Given the description of an element on the screen output the (x, y) to click on. 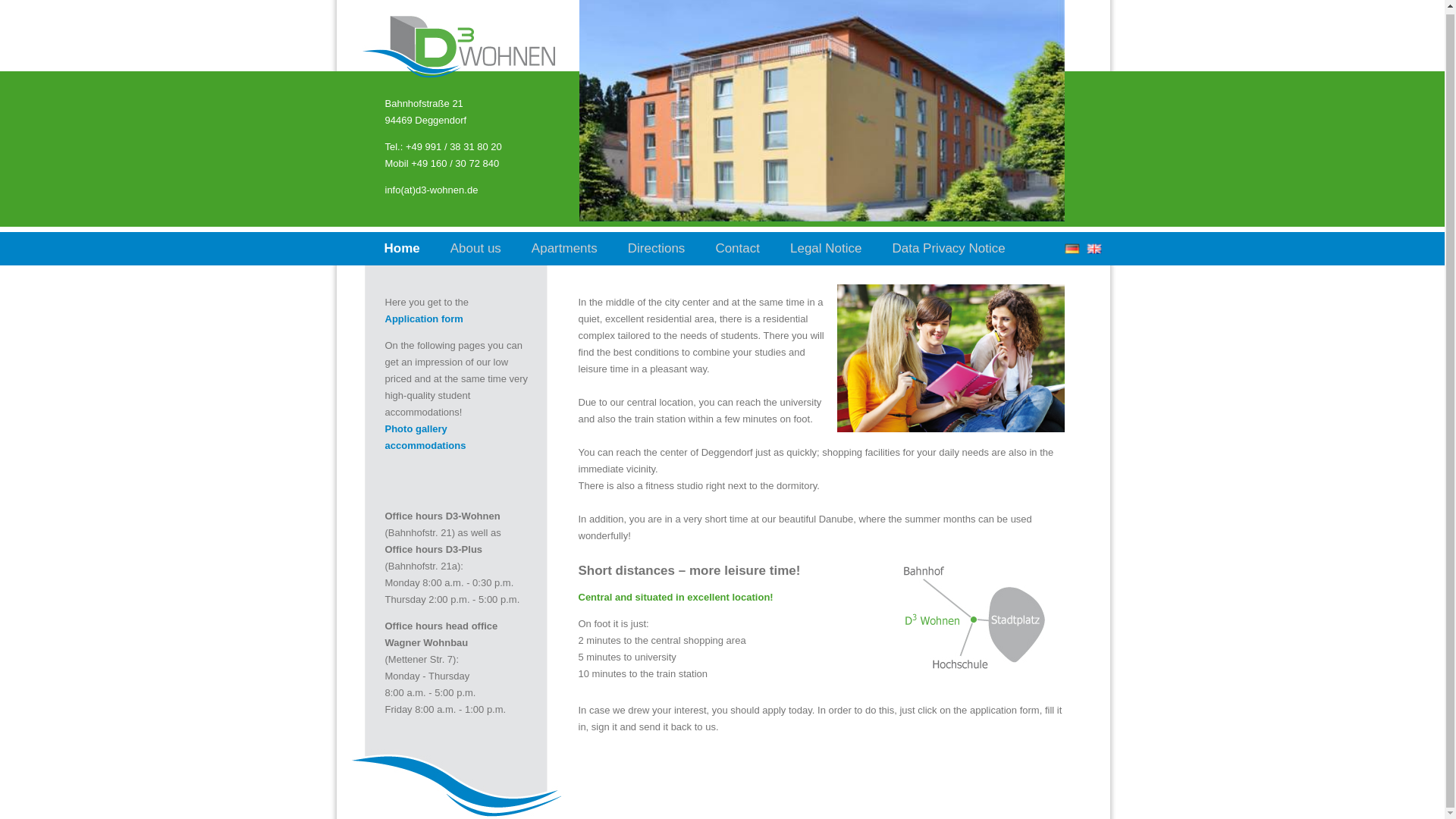
About us (474, 248)
Opens internal link in current window (425, 437)
Application form (424, 318)
Opens internal link in current window (424, 318)
Photo gallery accommodations (425, 437)
Apartments (563, 248)
Contact (737, 248)
German (1071, 250)
Directions (656, 248)
Schreiben Sie uns! (432, 189)
